Given the description of an element on the screen output the (x, y) to click on. 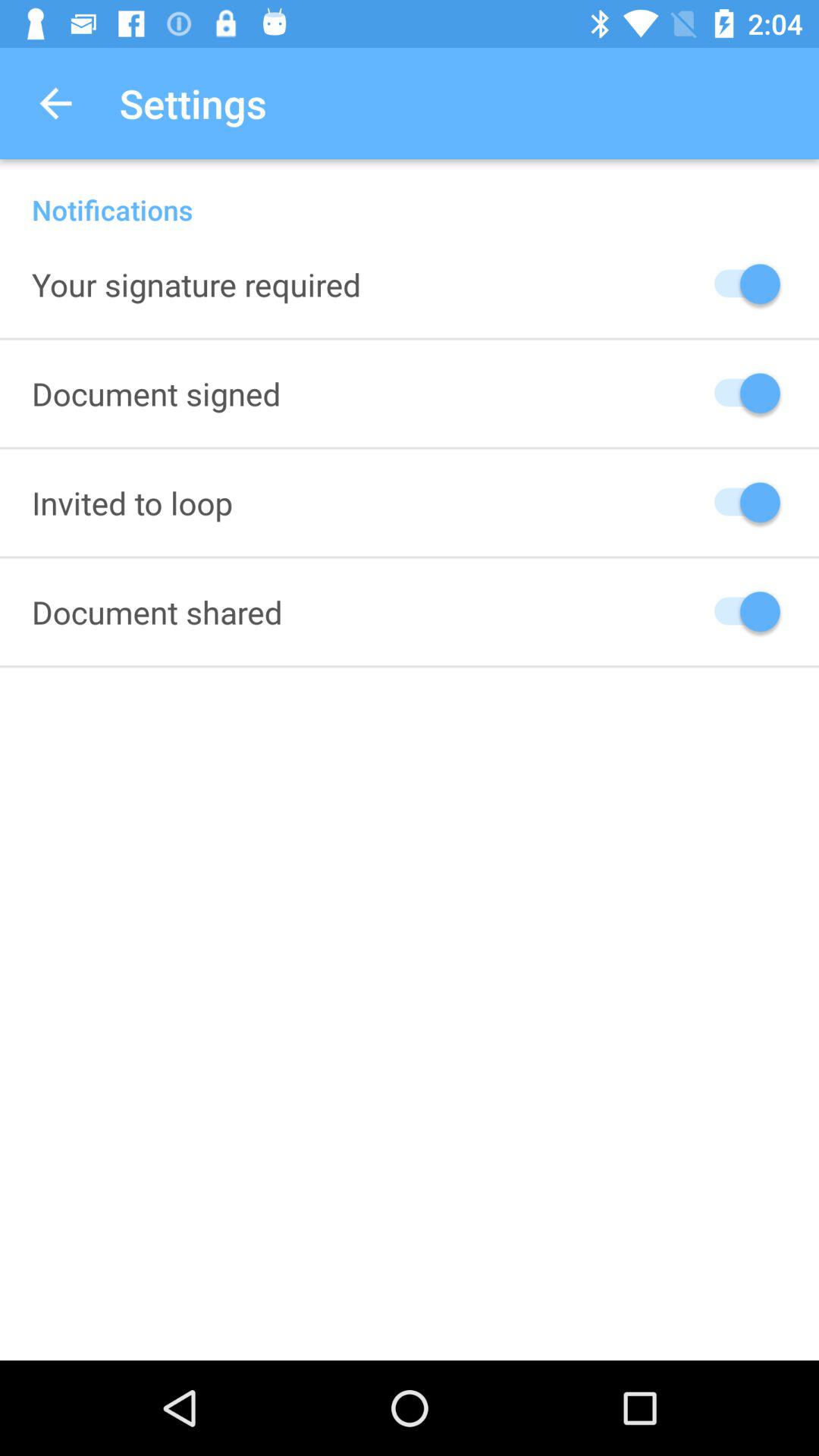
choose the app to the left of settings icon (55, 103)
